Given the description of an element on the screen output the (x, y) to click on. 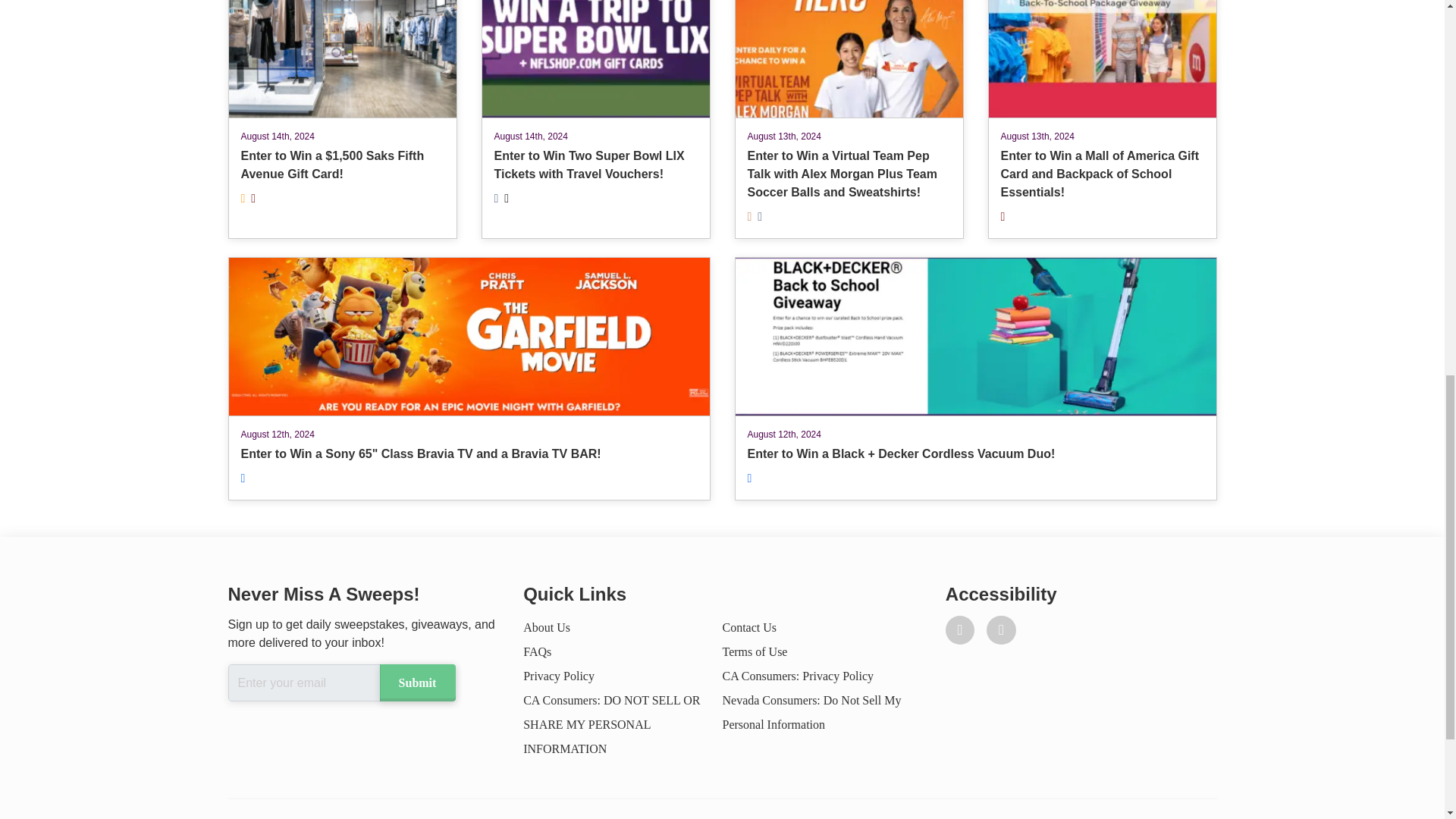
About Us (546, 626)
Terms of Use (754, 651)
Submit (416, 682)
CA Consumers: Privacy Policy (797, 675)
Contact Us (749, 626)
Privacy Policy (558, 675)
FAQs (536, 651)
